Given the description of an element on the screen output the (x, y) to click on. 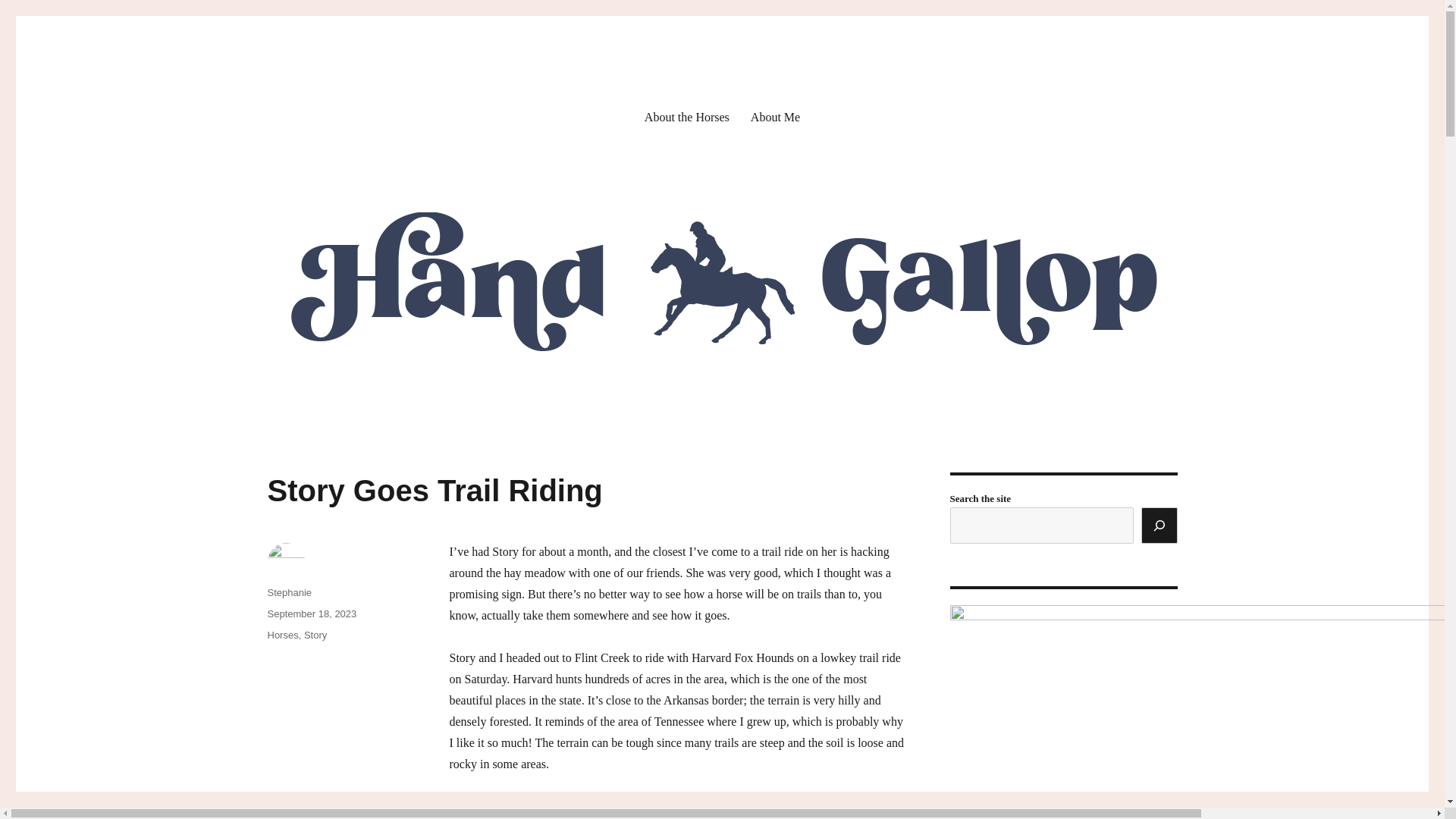
Horses (282, 634)
Story (315, 634)
Stephanie (288, 592)
About Me (774, 116)
Hand Gallop (328, 92)
About the Horses (686, 116)
September 18, 2023 (311, 613)
